Given the description of an element on the screen output the (x, y) to click on. 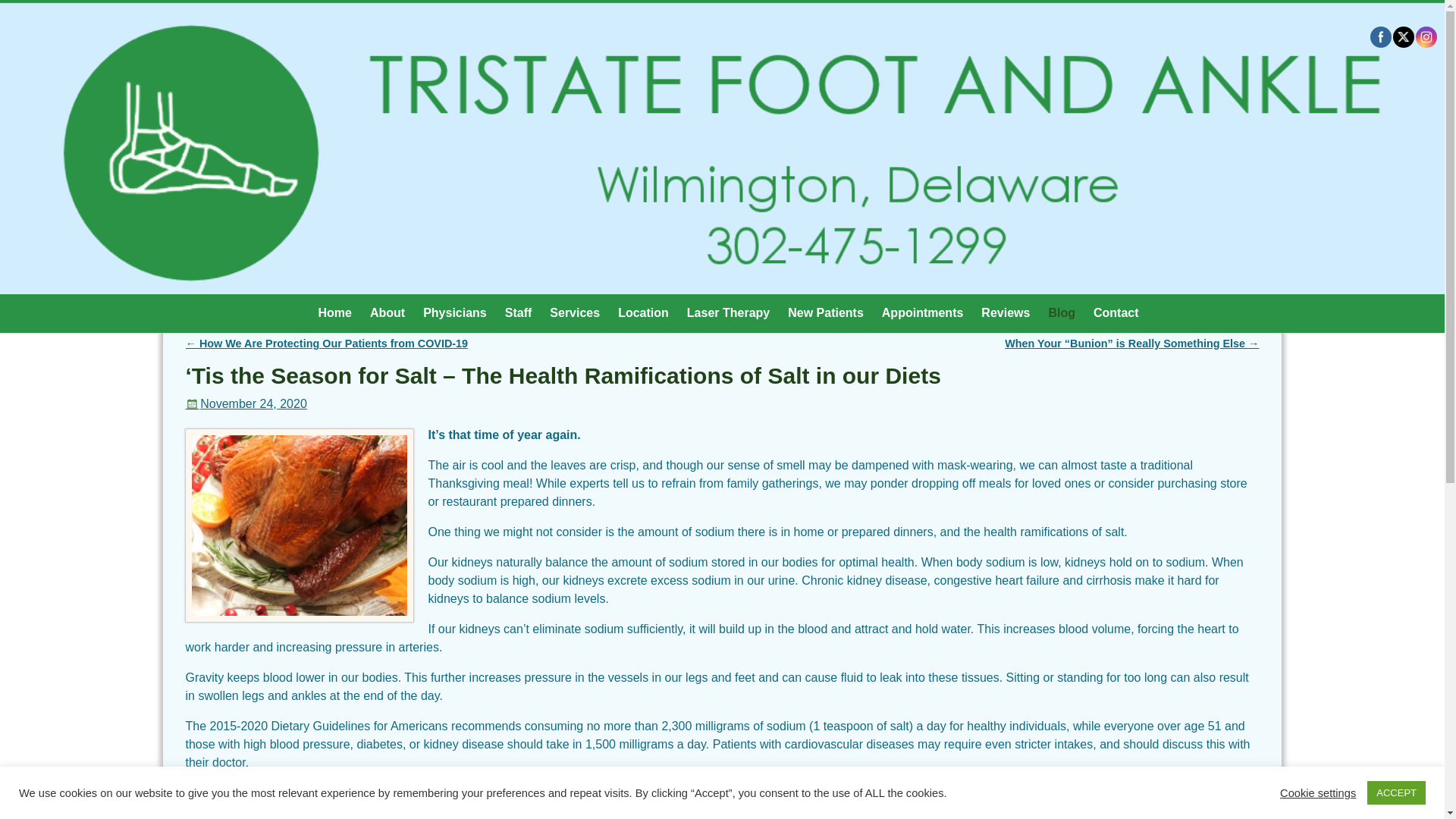
Laser Therapy (728, 313)
Reviews (1005, 313)
Contact (1116, 313)
Follow Us! (1426, 36)
Staff (518, 313)
Home (333, 313)
9:12 am (244, 403)
Location (643, 313)
New Patients (825, 313)
Services (574, 313)
Blog (1061, 313)
Physicians (454, 313)
About (387, 313)
Like Us Today! (1380, 36)
November 24, 2020 (244, 403)
